Given the description of an element on the screen output the (x, y) to click on. 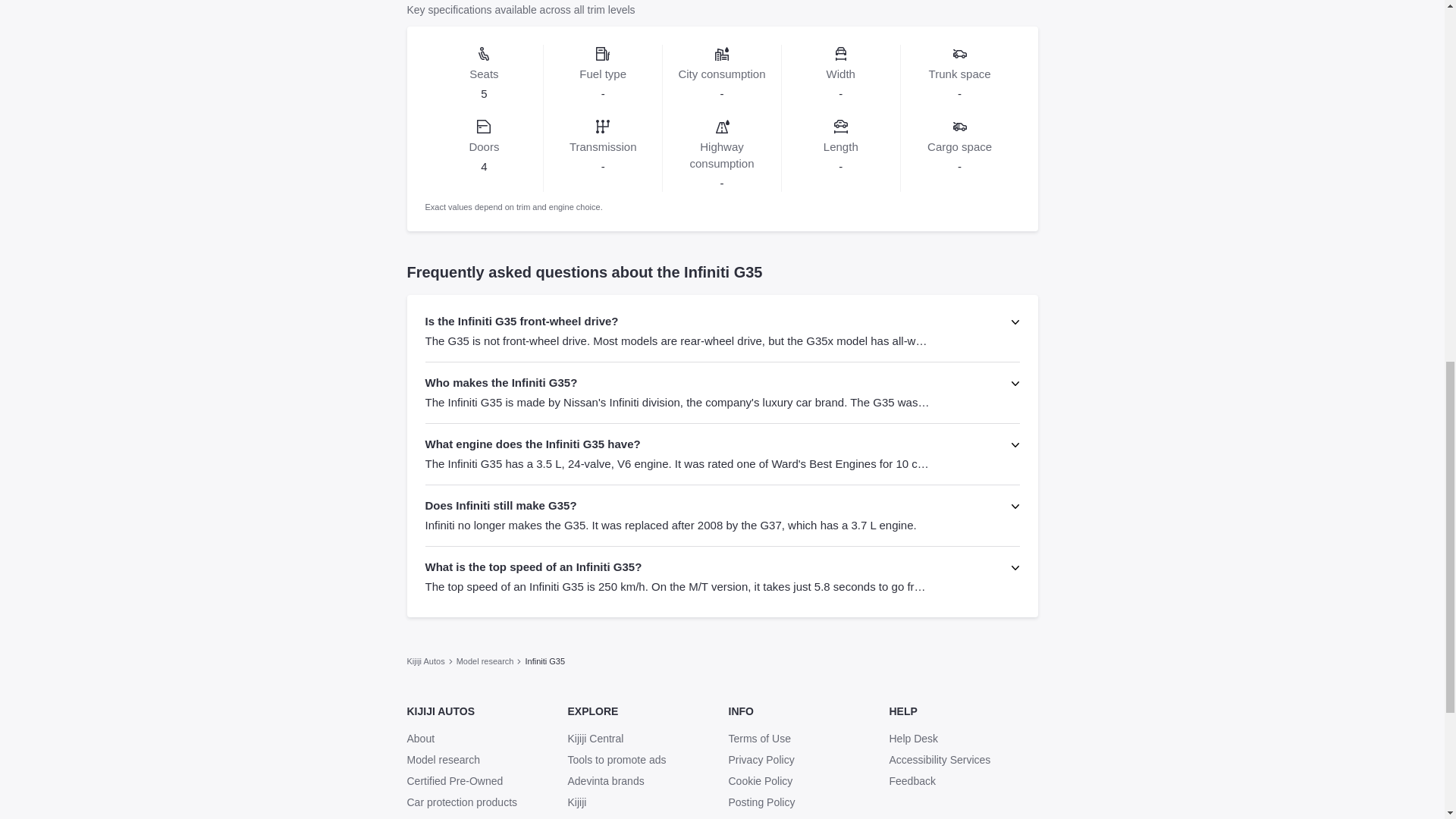
Car protection products (480, 801)
Car protection products (480, 801)
Certified Pre-Owned (480, 780)
About (419, 738)
Model research (485, 659)
Kijiji Autos (425, 659)
About (480, 738)
Careers (480, 817)
